Given the description of an element on the screen output the (x, y) to click on. 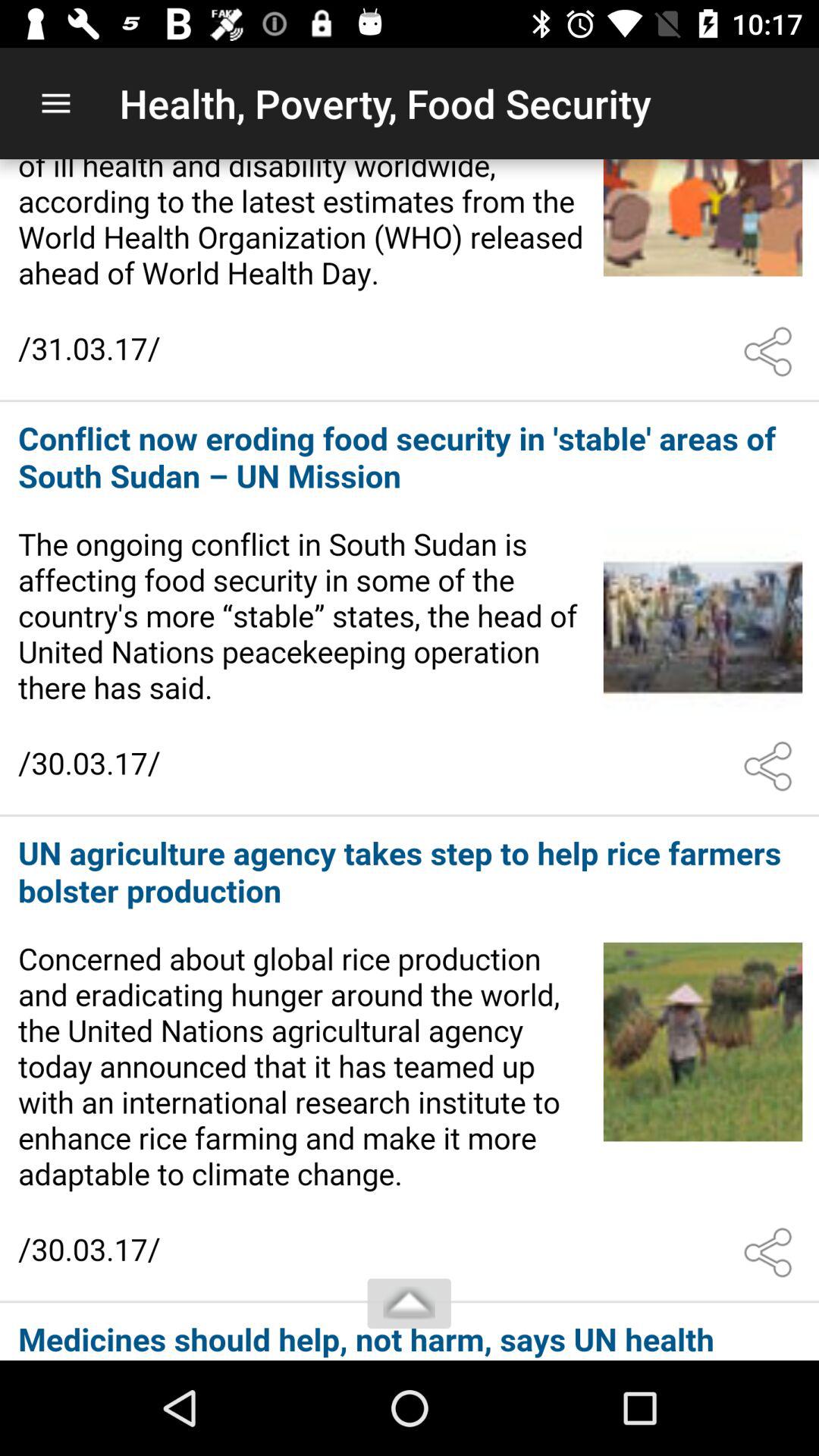
open article (409, 609)
